Given the description of an element on the screen output the (x, y) to click on. 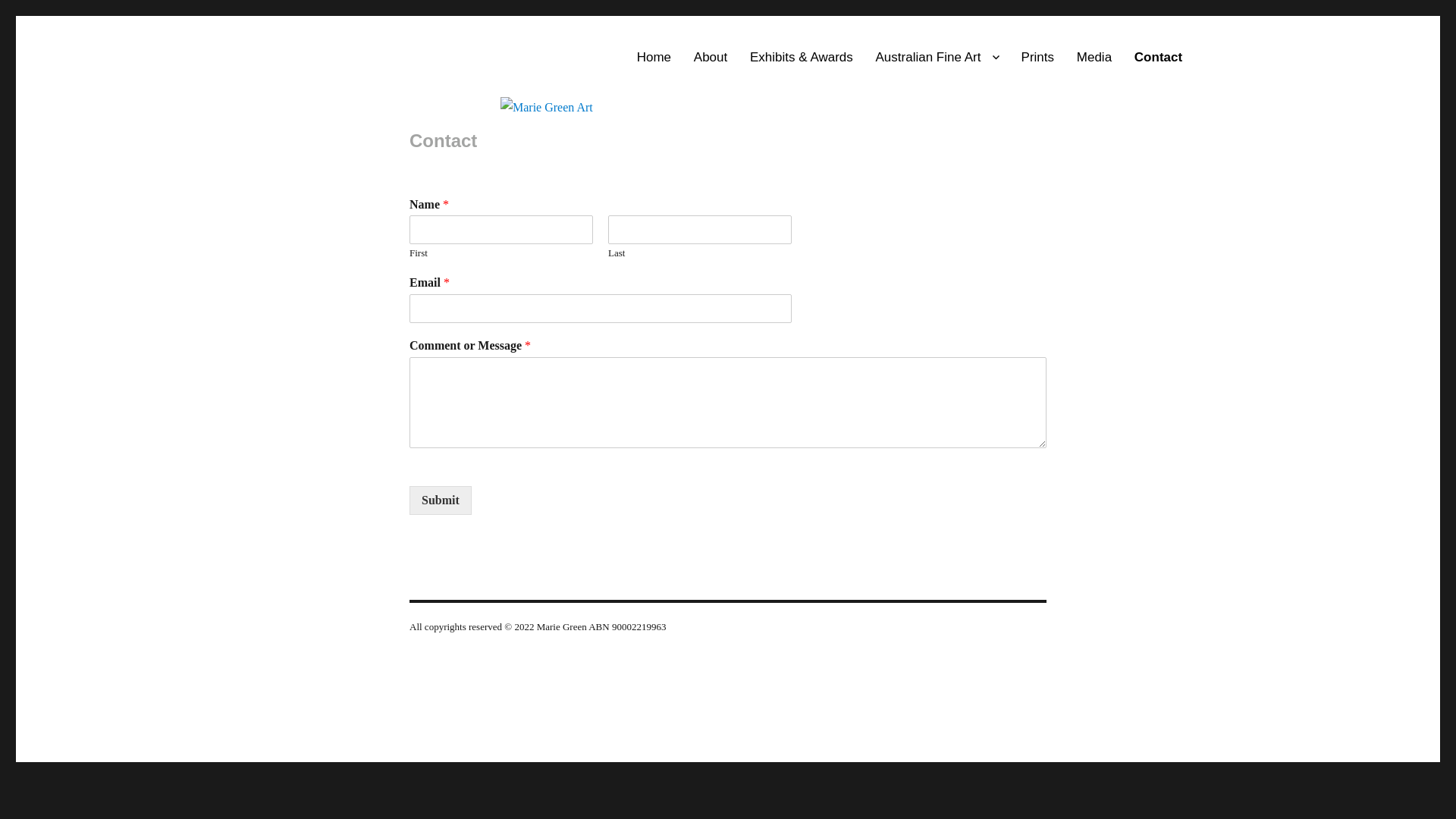
Australian Fine Art Element type: text (937, 57)
Home Element type: text (653, 57)
Marie Green Art Element type: text (352, 32)
Submit Element type: text (440, 500)
Prints Element type: text (1037, 57)
Contact Element type: text (1158, 57)
Exhibits & Awards Element type: text (801, 57)
About Element type: text (710, 57)
Media Element type: text (1094, 57)
